Given the description of an element on the screen output the (x, y) to click on. 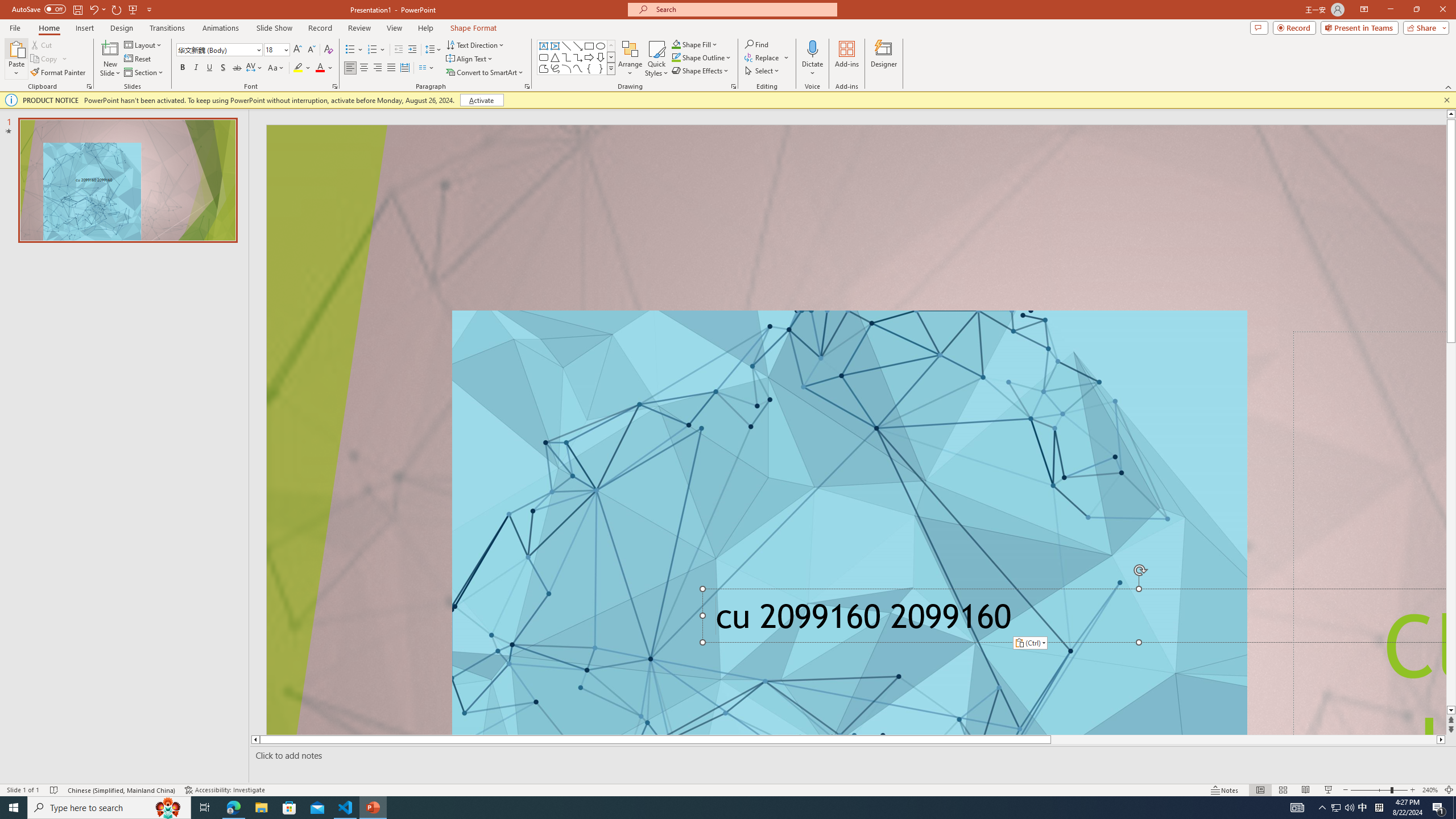
Zoom 240% (1430, 790)
